Given the description of an element on the screen output the (x, y) to click on. 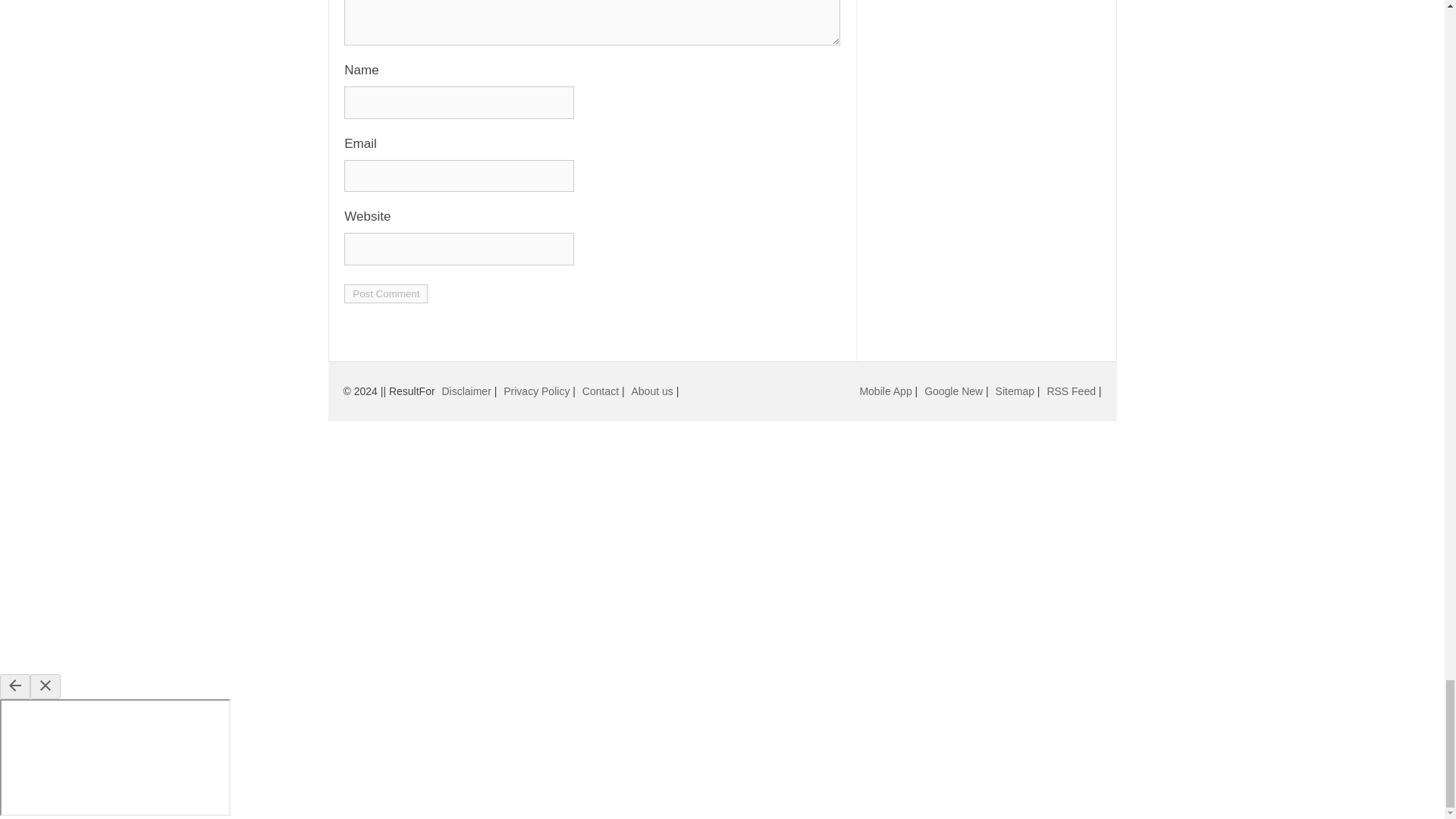
Post Comment (385, 293)
